Given the description of an element on the screen output the (x, y) to click on. 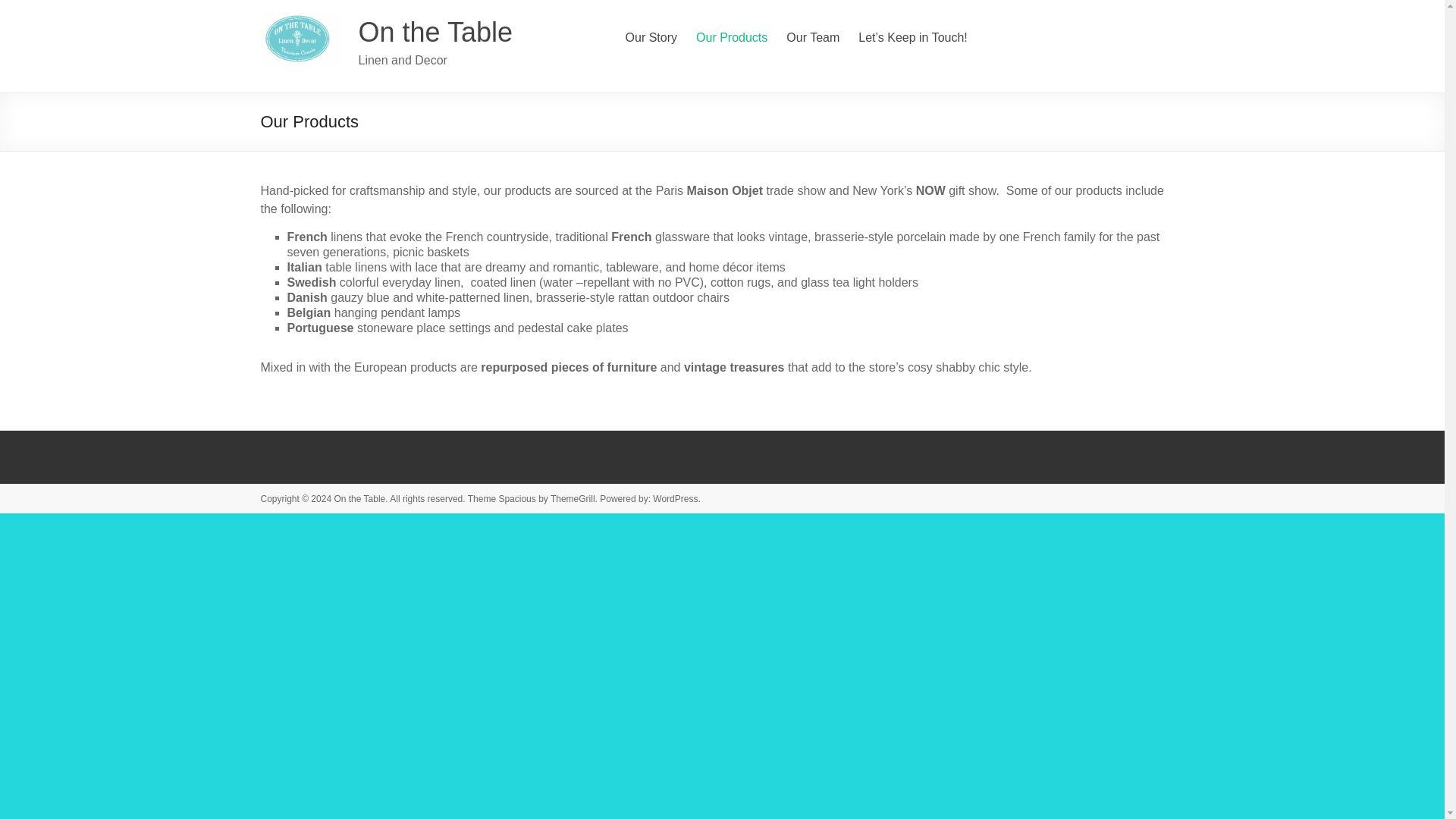
WordPress (674, 498)
On the Table (359, 498)
On the Table (435, 31)
On the Table (435, 31)
WordPress (674, 498)
Our Team (813, 37)
Spacious (516, 498)
Spacious (516, 498)
Our Story (651, 37)
Our Products (731, 37)
